Given the description of an element on the screen output the (x, y) to click on. 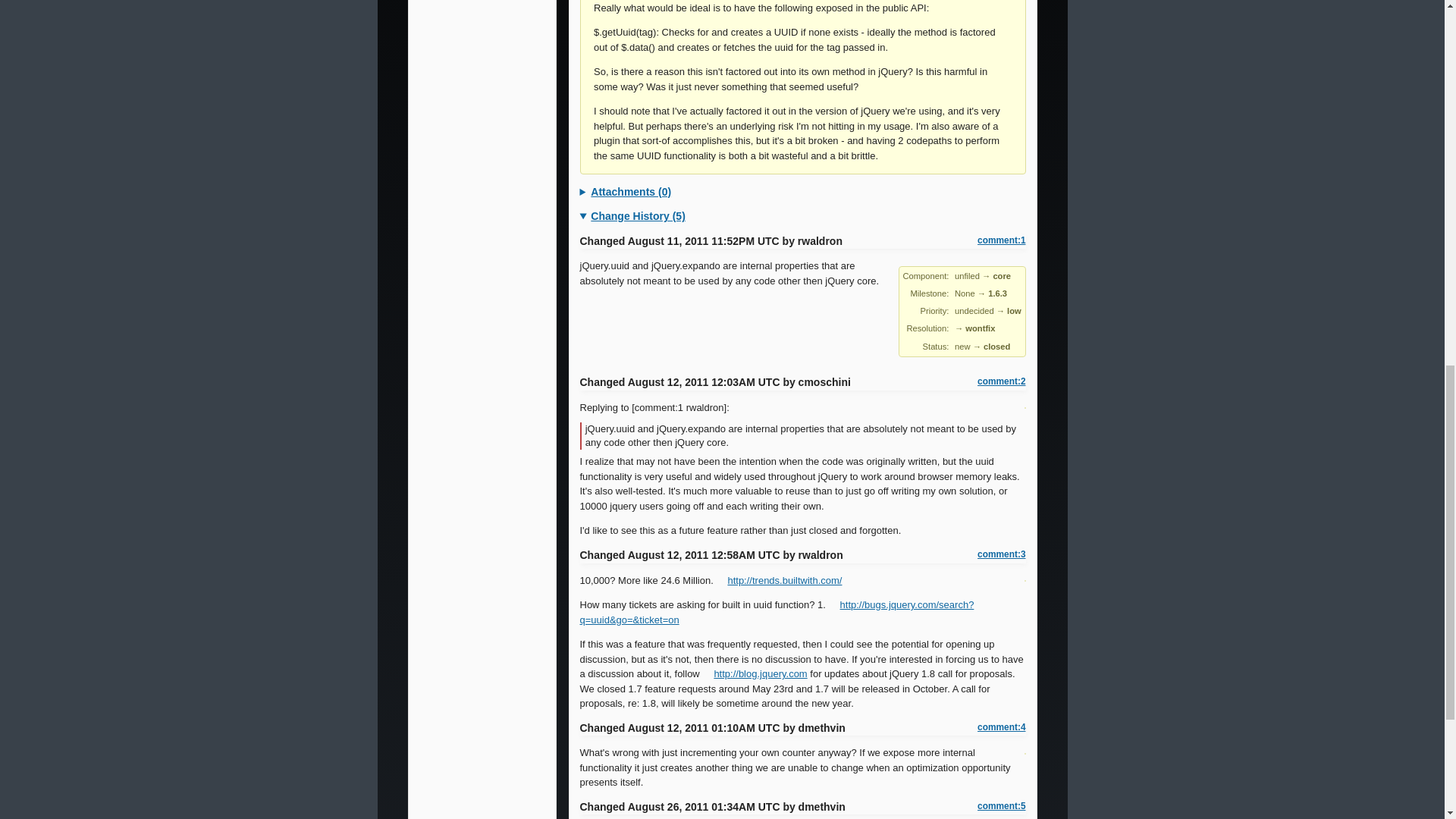
comment:2 (1000, 381)
comment:5 (1000, 806)
comment:1 (1000, 240)
comment:3 (1000, 554)
comment:4 (1000, 727)
